Given the description of an element on the screen output the (x, y) to click on. 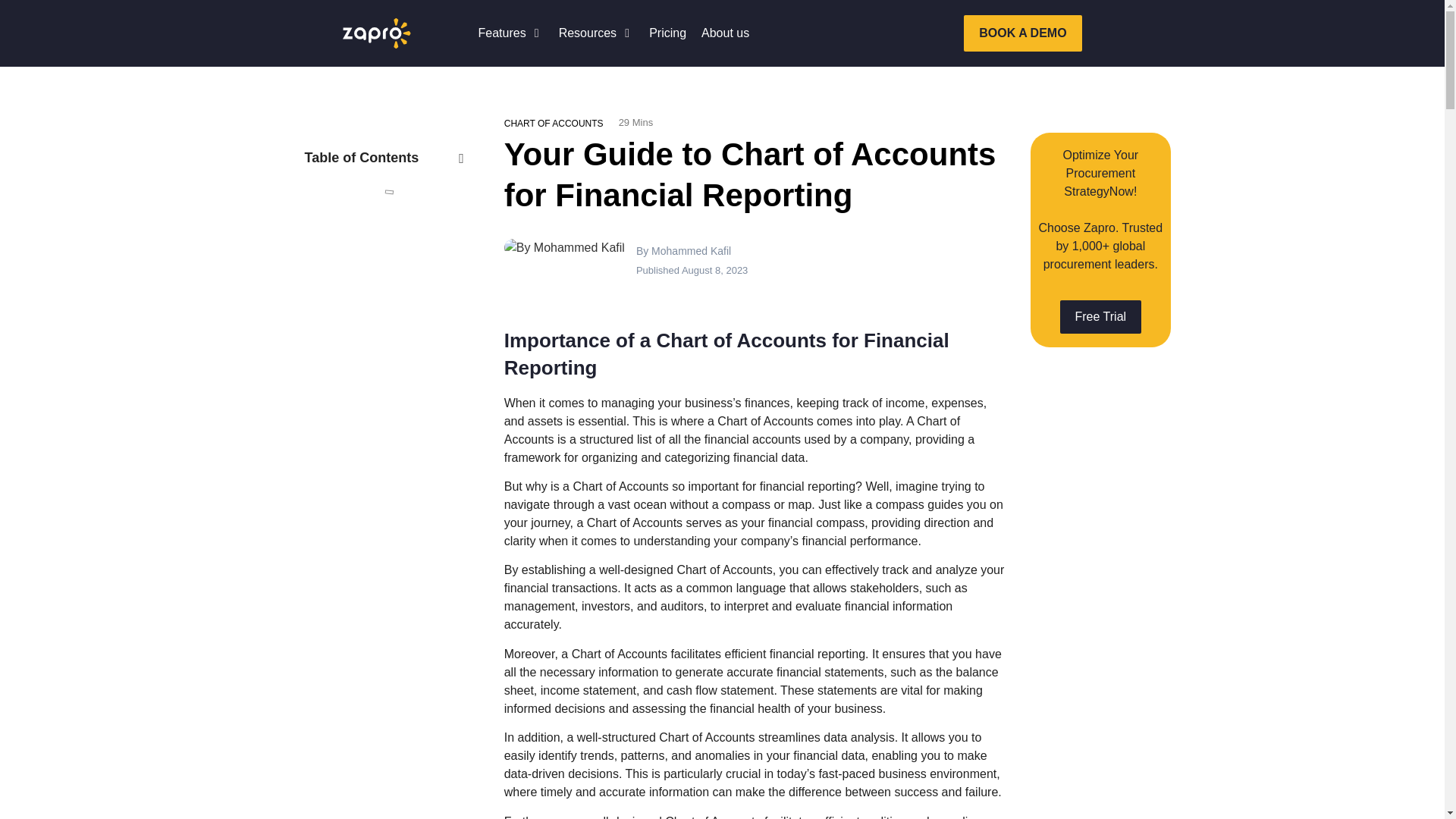
Pricing (667, 33)
BOOK A DEMO (1022, 33)
About us (725, 33)
Resources (587, 33)
Features (501, 33)
